Given the description of an element on the screen output the (x, y) to click on. 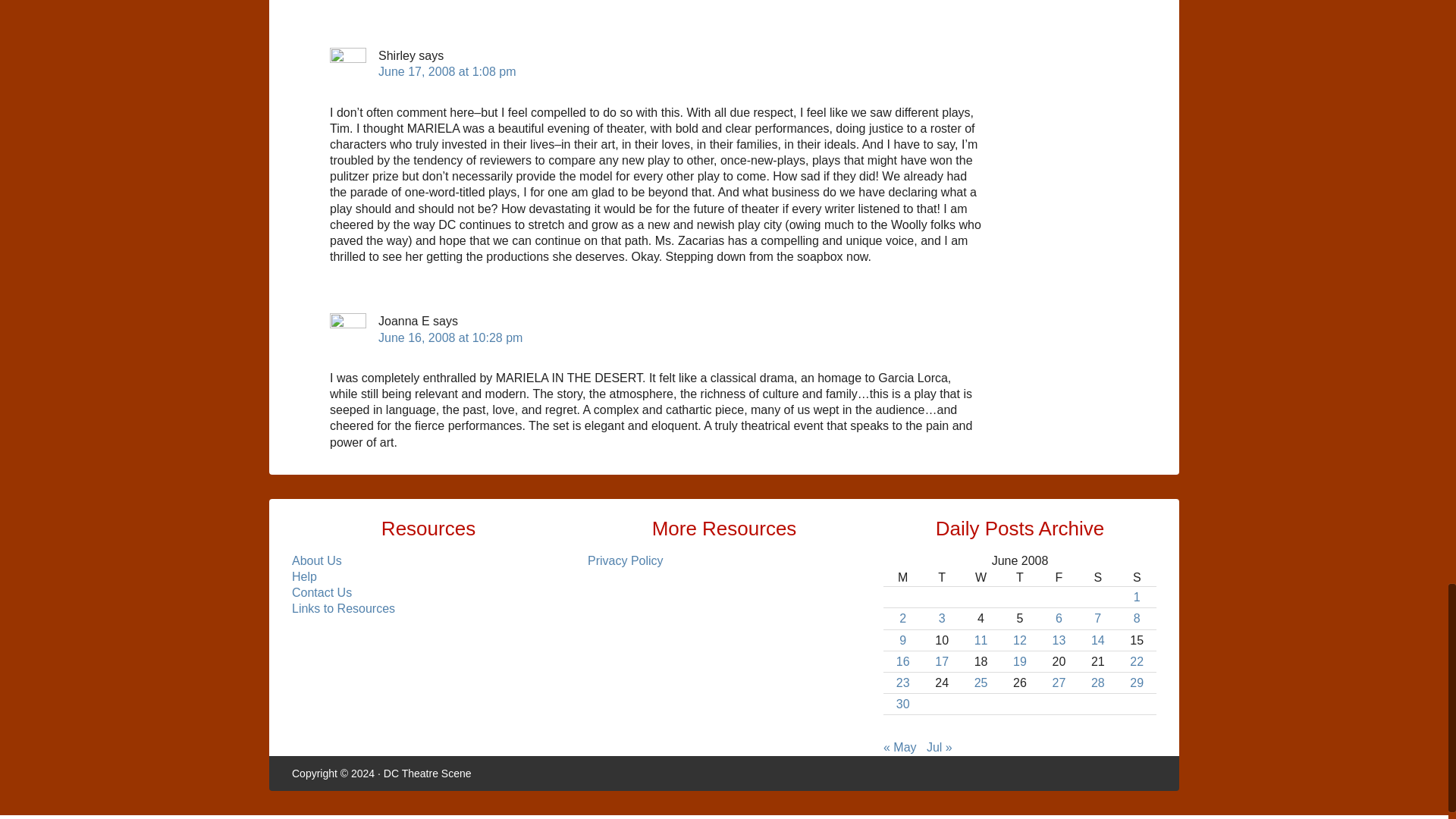
Saturday (1097, 577)
Tuesday (940, 577)
Thursday (1019, 577)
Friday (1058, 577)
Monday (902, 577)
Sunday (1137, 577)
Wednesday (980, 577)
June 17, 2008 at 1:08 pm (446, 71)
